Given the description of an element on the screen output the (x, y) to click on. 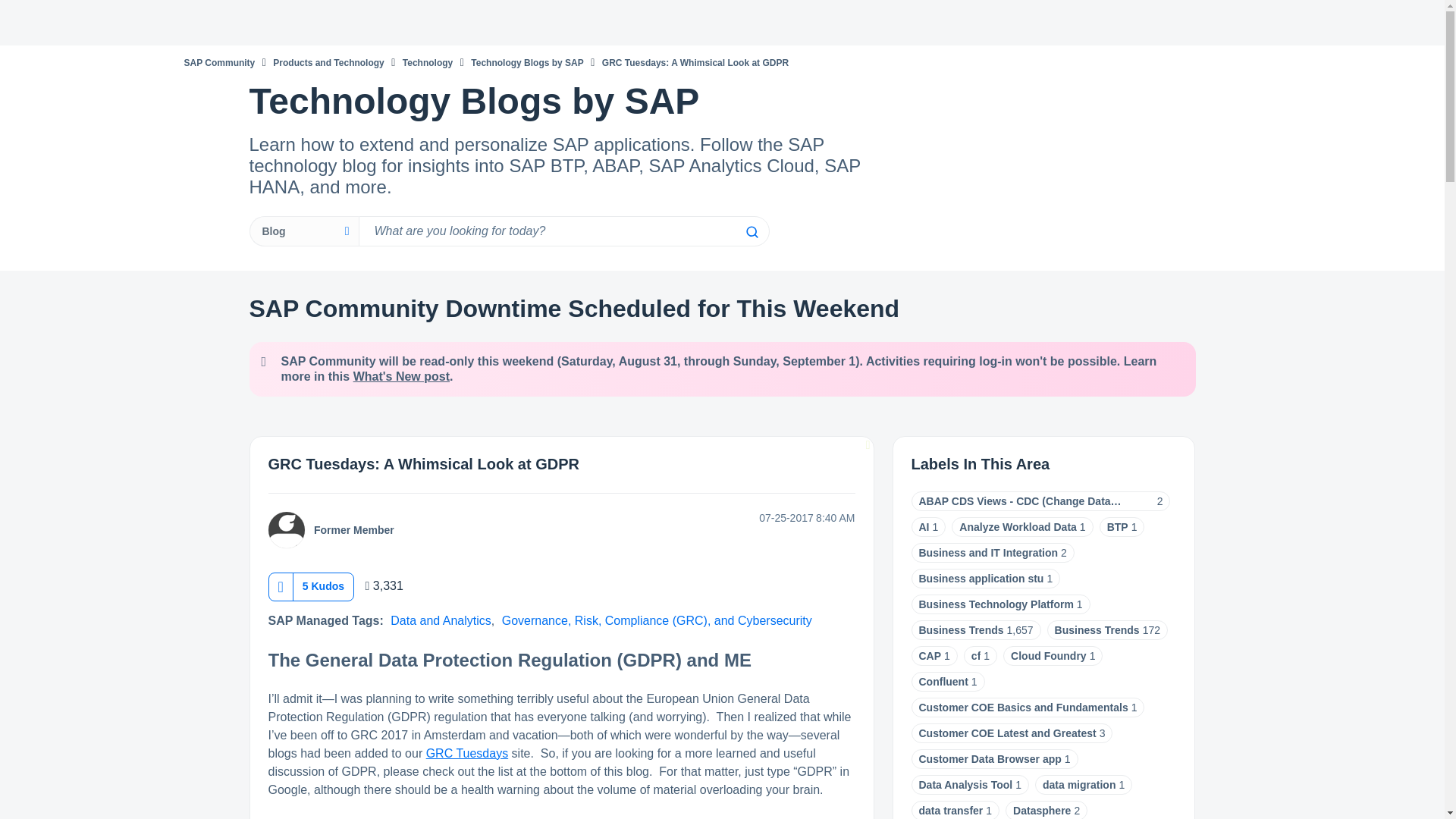
Search Granularity (303, 231)
GRC Tuesdays (467, 753)
BTP (1117, 526)
Data and Analytics (441, 620)
Products and Technology (328, 62)
Posted on (757, 517)
Technology Blogs by SAP (526, 62)
5 Kudos (323, 585)
GRC Tuesdays: A Whimsical Look at GDPR (423, 463)
Business Technology Platform (996, 604)
